Given the description of an element on the screen output the (x, y) to click on. 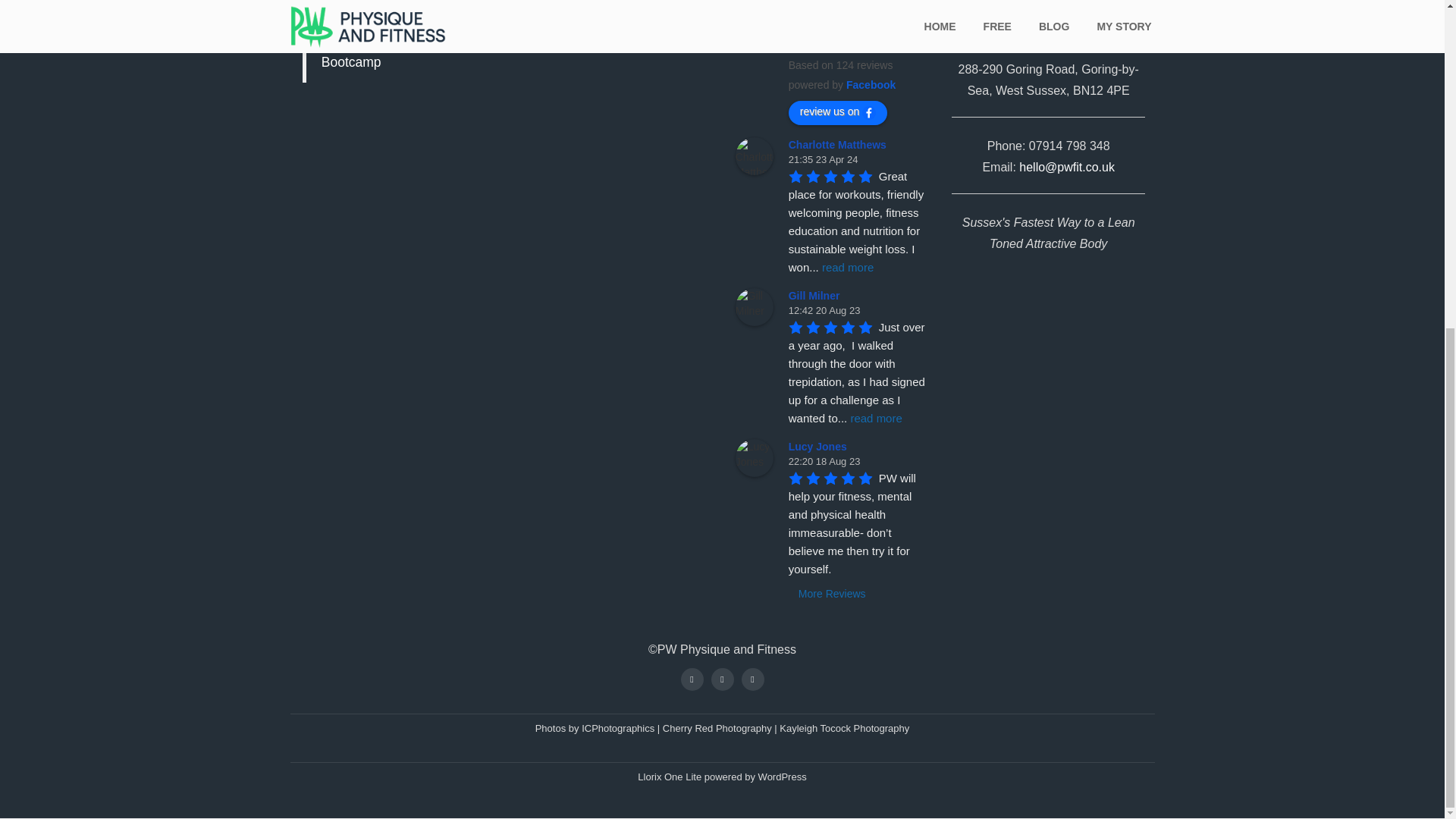
PW Physique and Fitness - Transformation Studio (754, 23)
Charlotte Matthews (840, 144)
Charlotte Matthews (754, 156)
PW Physique and Fitness - Transformation Studio (856, 20)
Gill Milner (816, 295)
Lucy Jones (754, 457)
review us on (838, 112)
Lucy Jones (820, 446)
Gill Milner (754, 306)
